Given the description of an element on the screen output the (x, y) to click on. 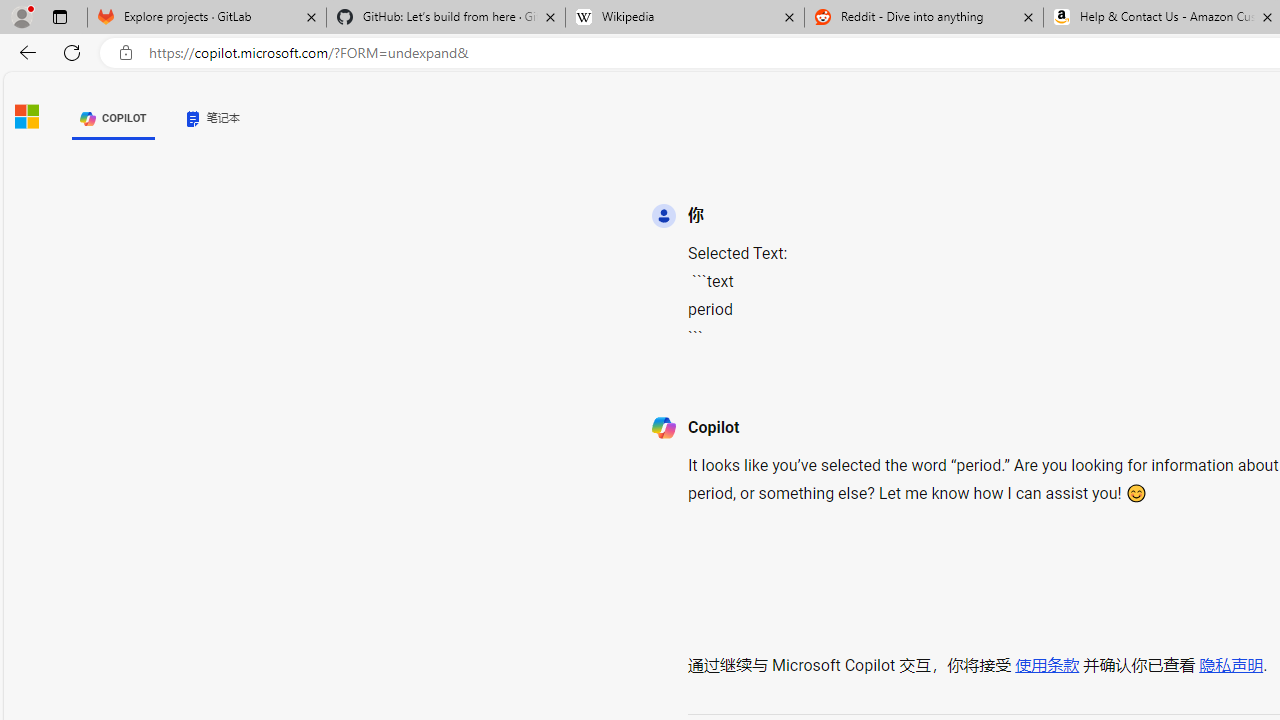
COPILOT (112, 118)
COPILOT (112, 118)
